Given the description of an element on the screen output the (x, y) to click on. 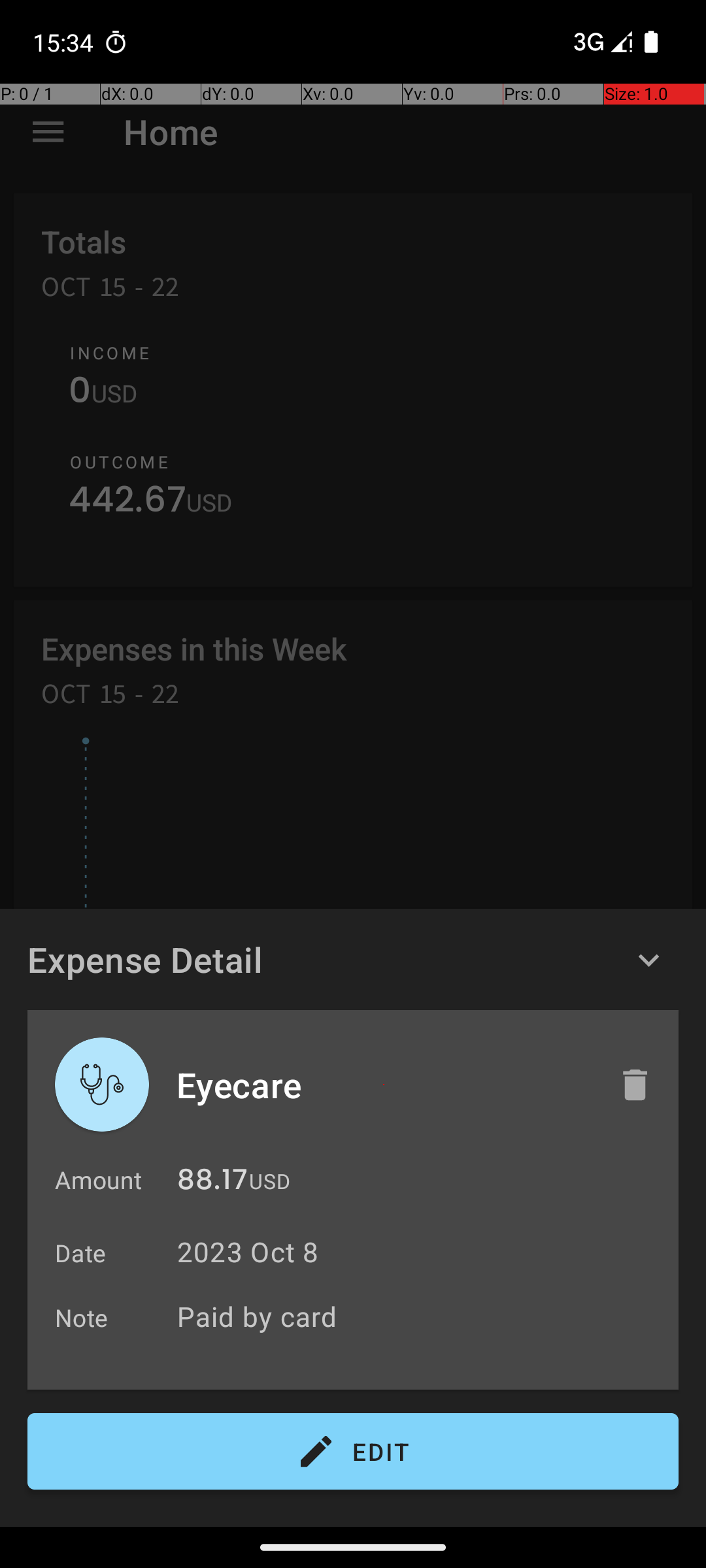
88.17 Element type: android.widget.TextView (212, 1182)
